Given the description of an element on the screen output the (x, y) to click on. 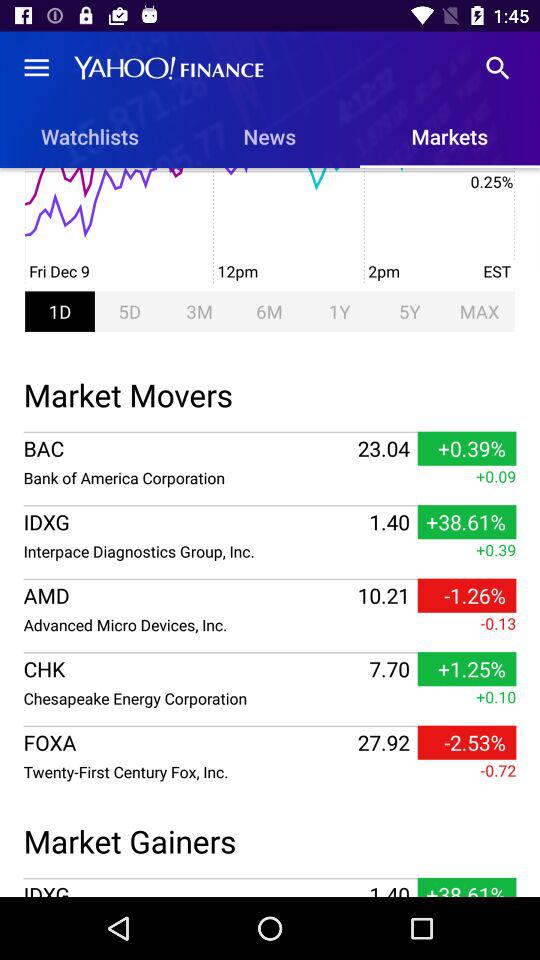
launch item to the right of 27.92 (466, 742)
